Given the description of an element on the screen output the (x, y) to click on. 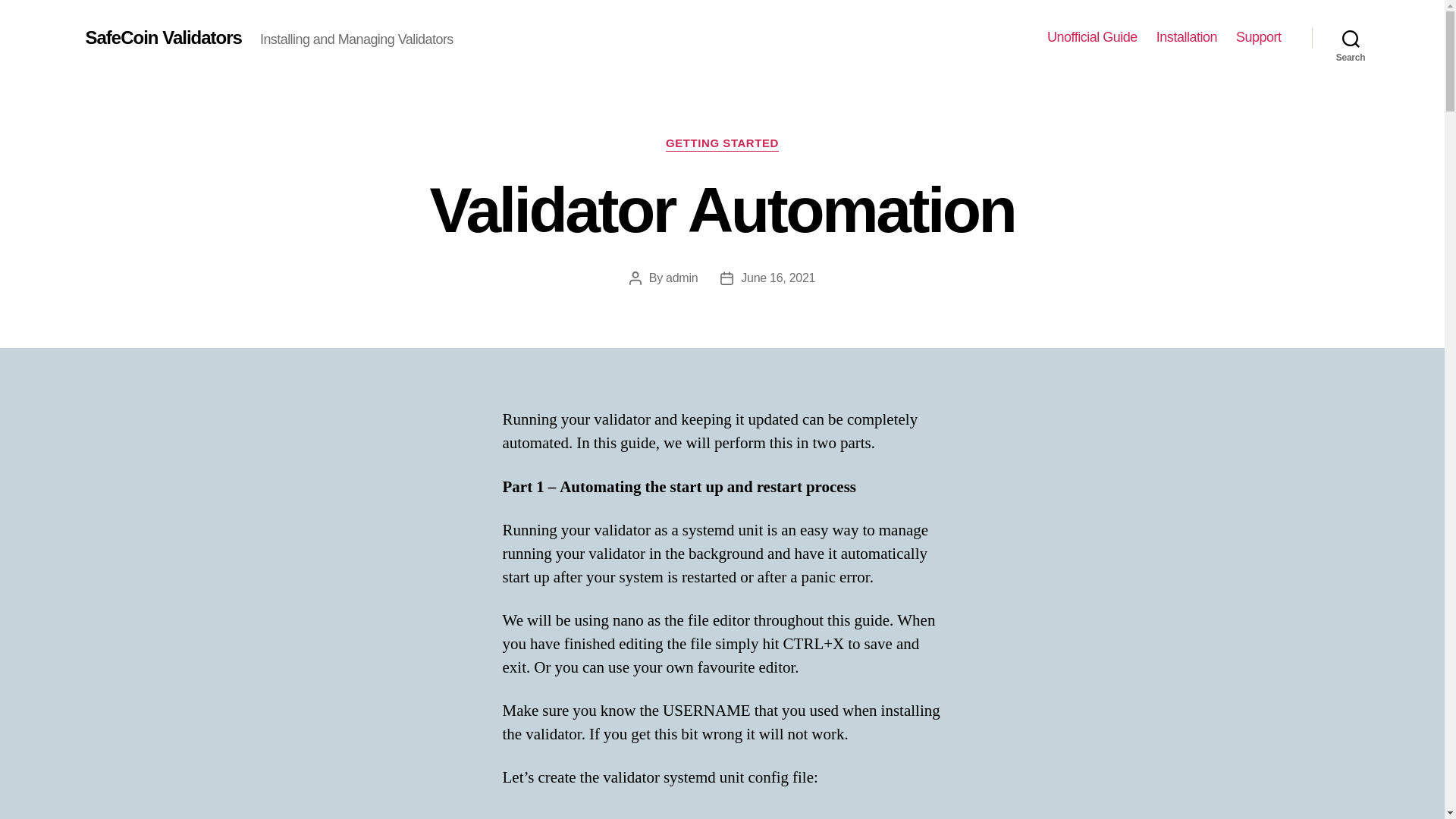
Installation (1186, 37)
GETTING STARTED (721, 143)
Unofficial Guide (1091, 37)
SafeCoin Validators (162, 37)
Support (1258, 37)
admin (681, 277)
June 16, 2021 (778, 277)
Search (1350, 37)
